Given the description of an element on the screen output the (x, y) to click on. 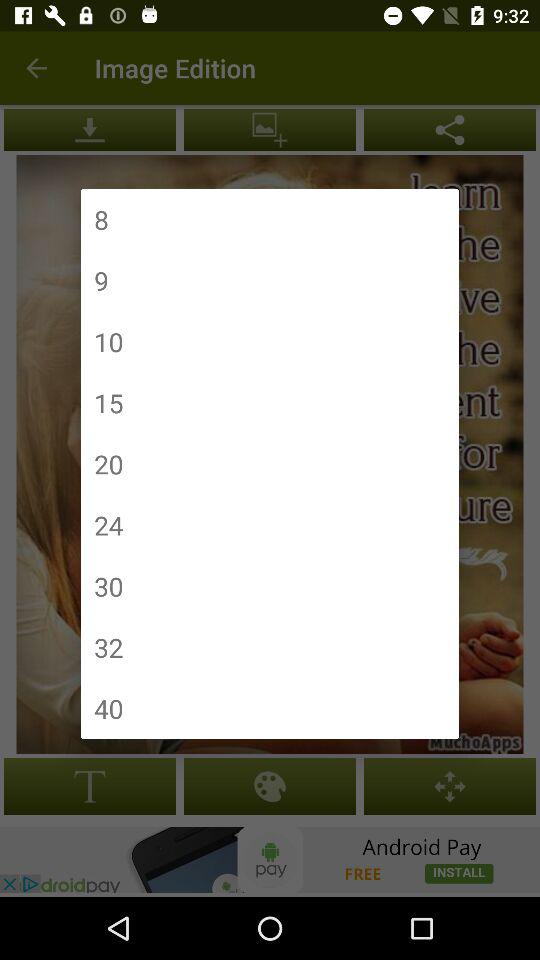
open icon above the 30 icon (108, 524)
